Given the description of an element on the screen output the (x, y) to click on. 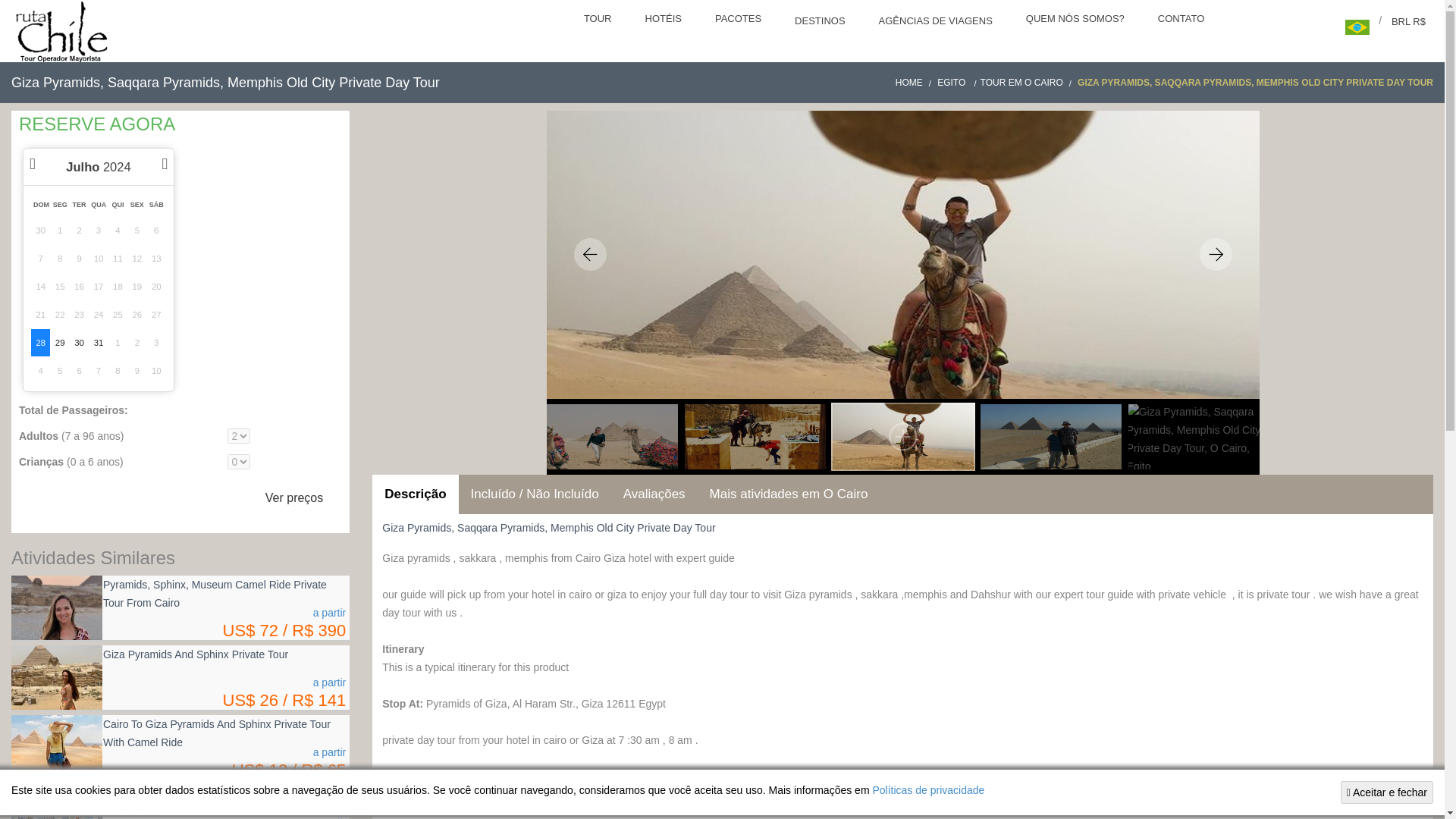
HOME (914, 81)
TOUR (599, 20)
CONTATO (1182, 20)
EGITO (958, 81)
TOUR EM O CAIRO (1027, 81)
DESTINOS (820, 22)
PACOTES (739, 20)
